Given the description of an element on the screen output the (x, y) to click on. 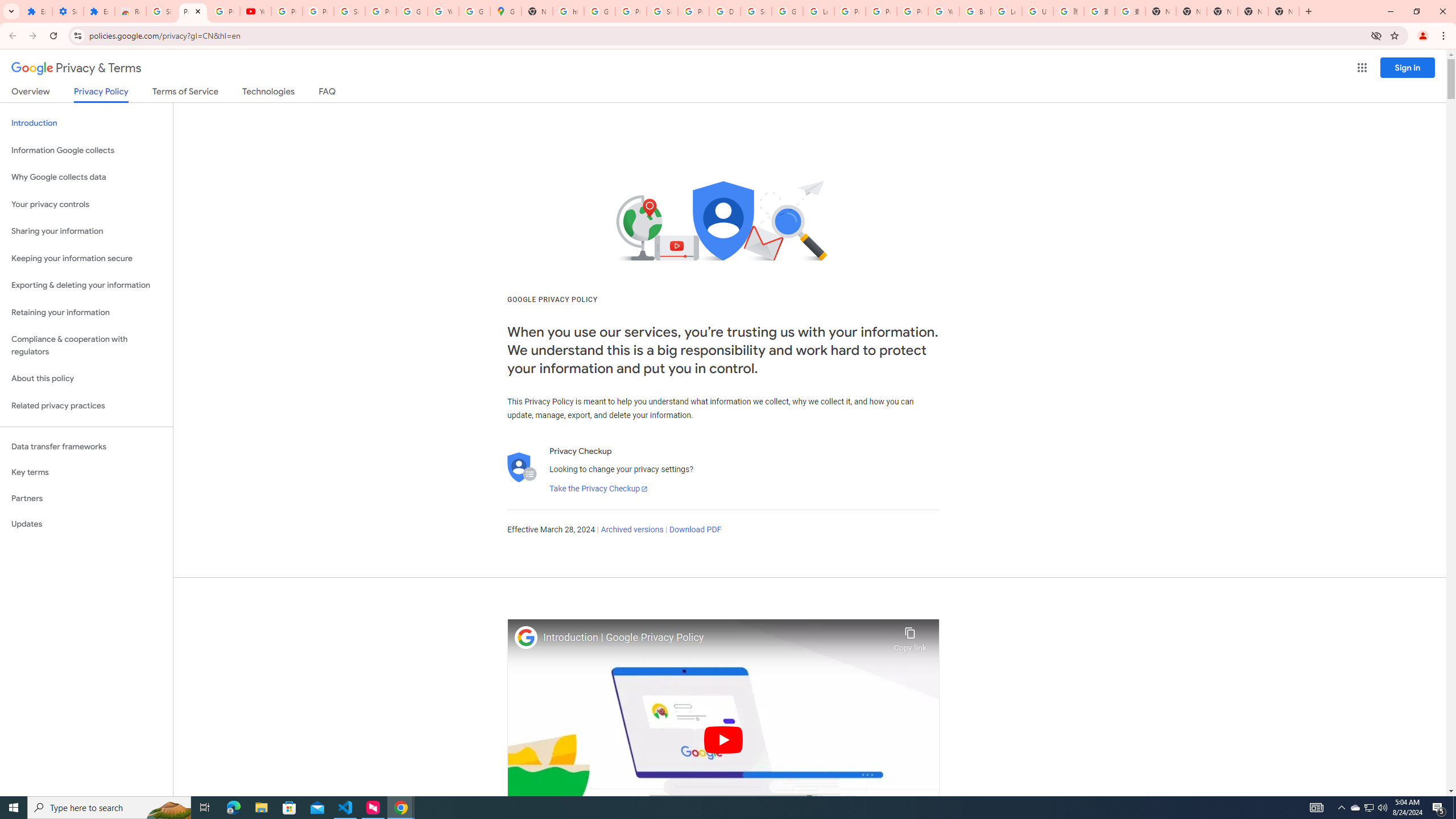
Extensions (36, 11)
Delete specific Google services or your Google Account (724, 11)
Sign in - Google Accounts (756, 11)
Take the Privacy Checkup (597, 488)
Partners (86, 497)
https://scholar.google.com/ (568, 11)
